Given the description of an element on the screen output the (x, y) to click on. 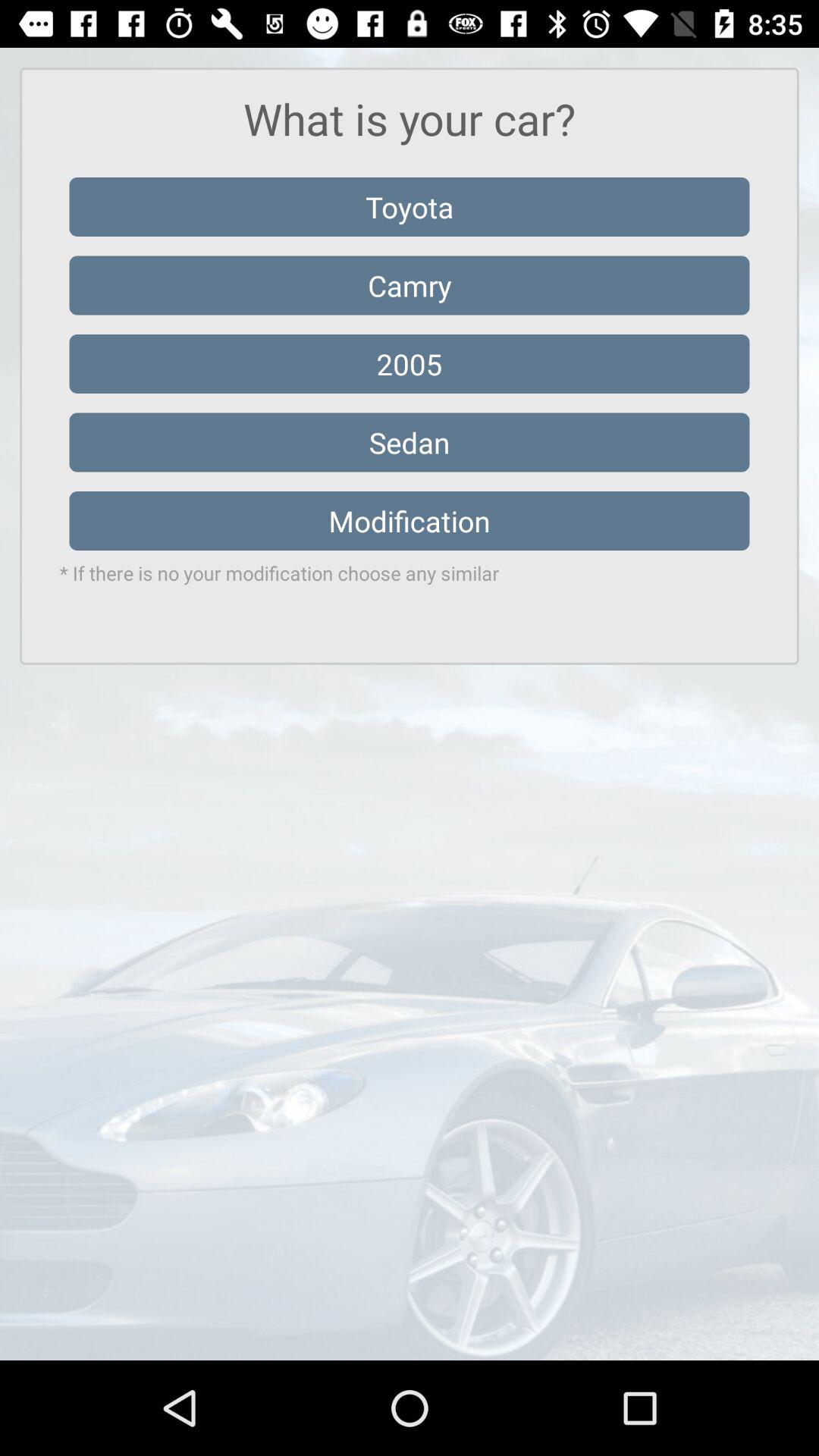
open 2005 icon (409, 363)
